Given the description of an element on the screen output the (x, y) to click on. 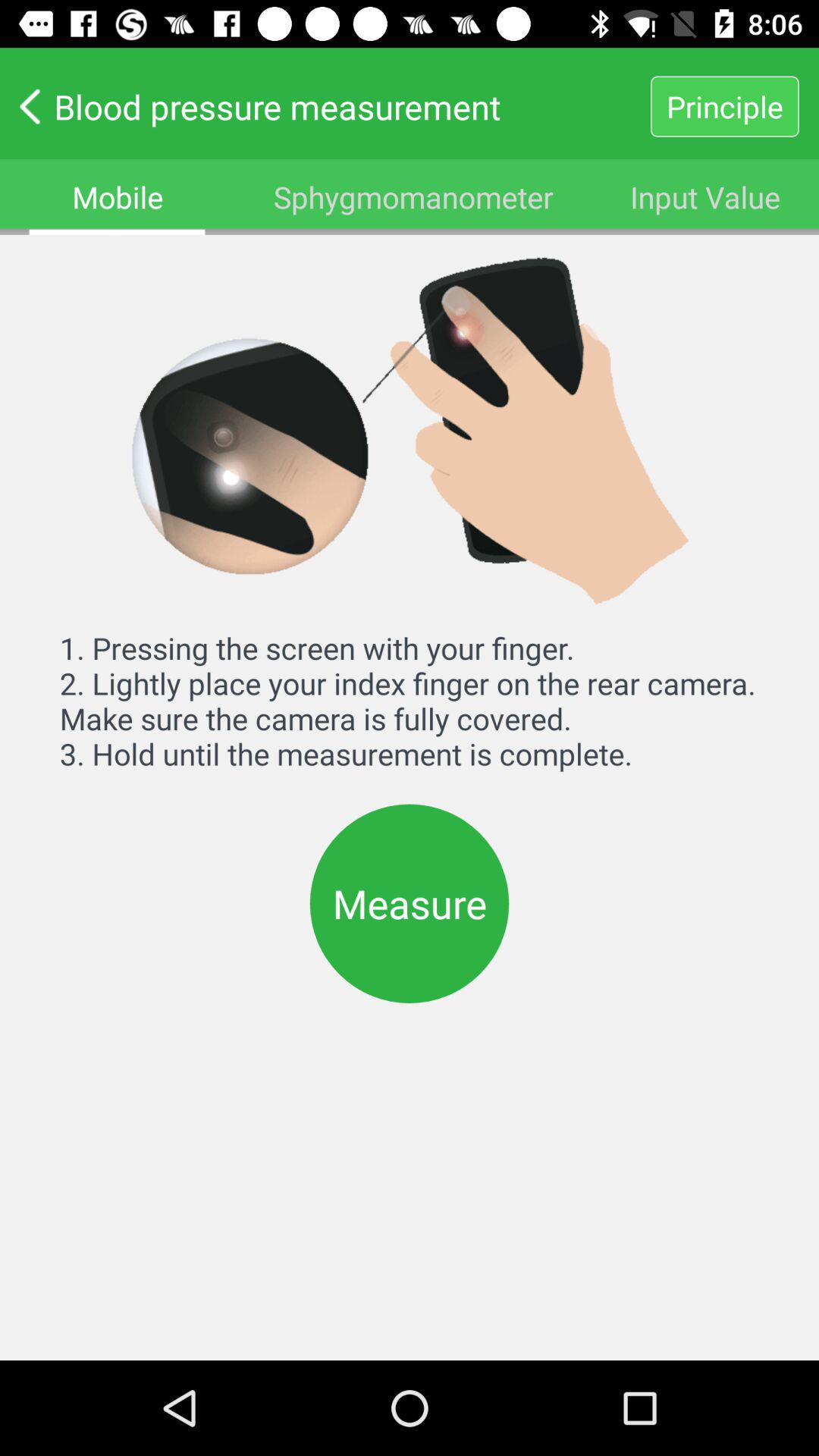
flip until the measure item (409, 903)
